Given the description of an element on the screen output the (x, y) to click on. 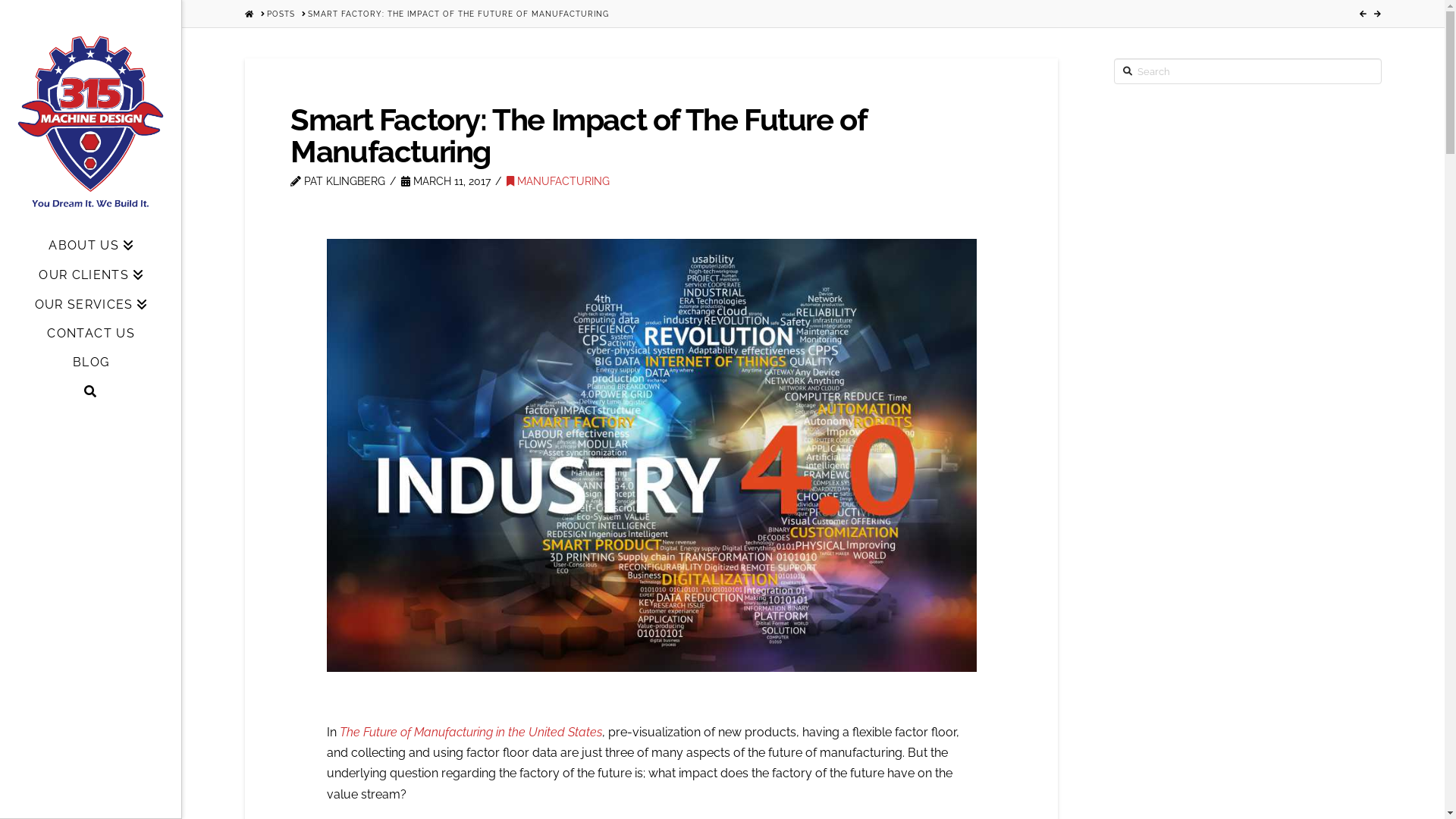
HOME Element type: text (249, 12)
ABOUT US Element type: text (90, 245)
The Future of Manufacturing in the United States Element type: text (470, 731)
MANUFACTURING Element type: text (557, 181)
OUR SERVICES Element type: text (90, 304)
POSTS Element type: text (280, 14)
CONTACT US Element type: text (90, 333)
OUR CLIENTS Element type: text (90, 274)
BLOG Element type: text (90, 362)
SMART FACTORY: THE IMPACT OF THE FUTURE OF MANUFACTURING Element type: text (457, 14)
